Given the description of an element on the screen output the (x, y) to click on. 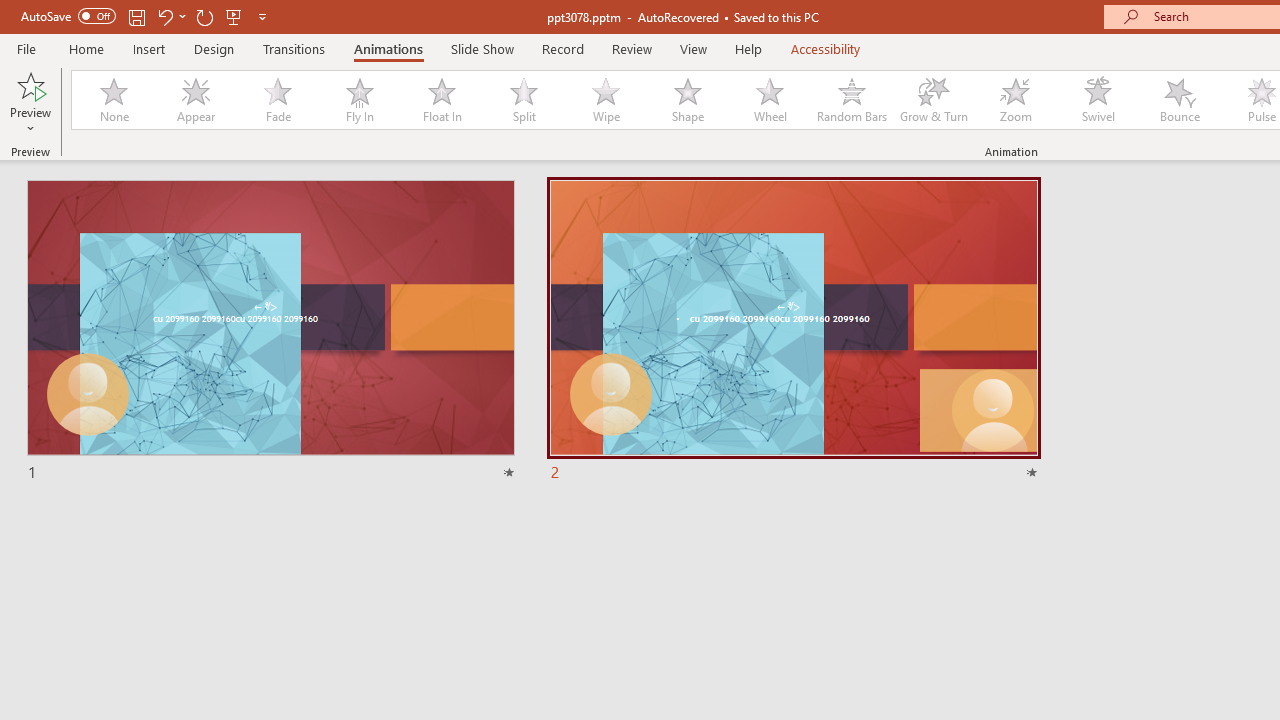
Split (523, 100)
Fade (277, 100)
Fly In (359, 100)
Random Bars (852, 100)
Wheel (770, 100)
